Given the description of an element on the screen output the (x, y) to click on. 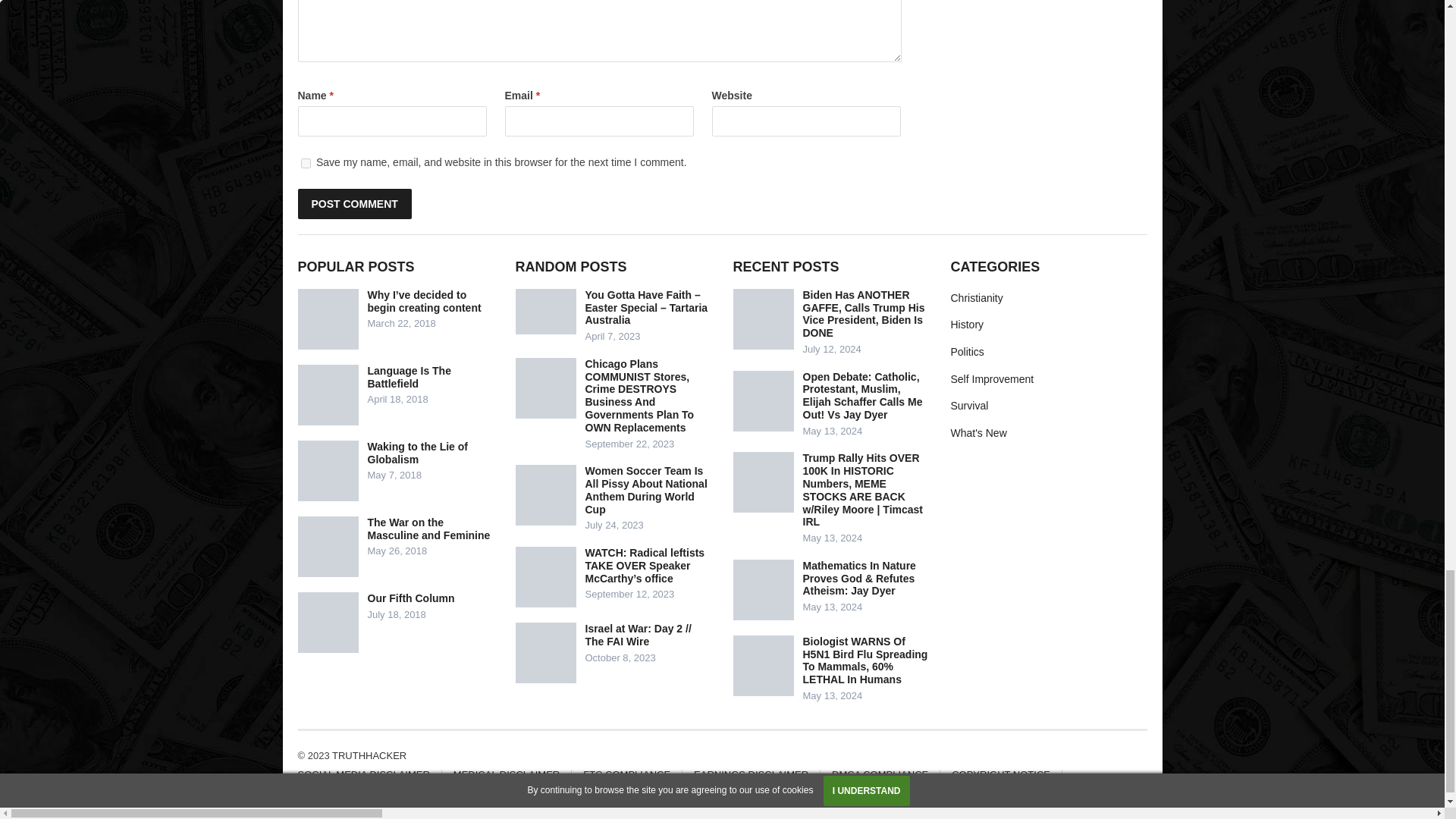
yes (304, 163)
Post Comment (353, 204)
